Given the description of an element on the screen output the (x, y) to click on. 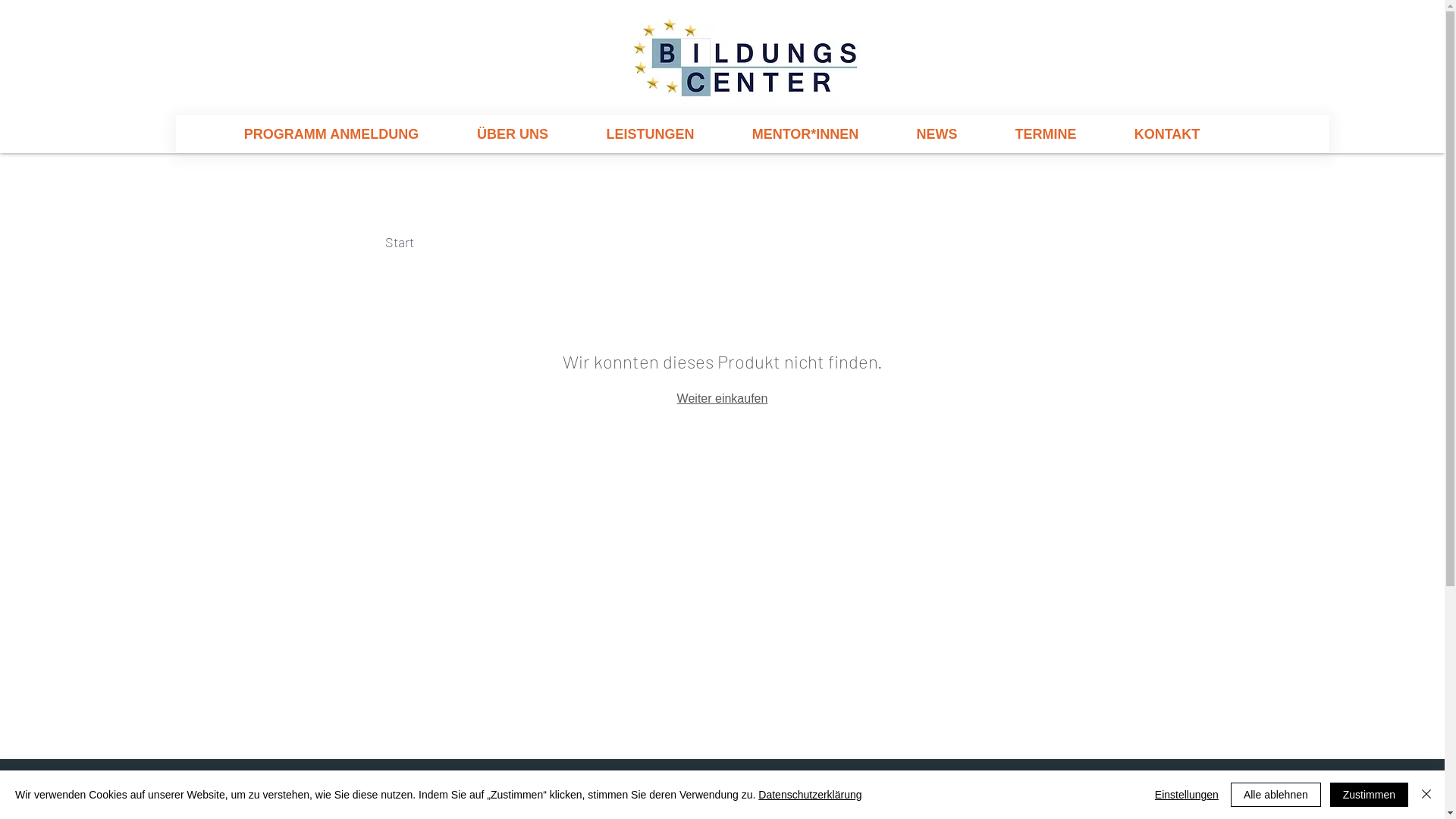
MENTOR*INNEN Element type: text (805, 134)
TERMINE Element type: text (1044, 134)
NEWS Element type: text (936, 134)
Start Element type: text (399, 241)
PROGRAMM ANMELDUNG Element type: text (331, 134)
Zustimmen Element type: text (1369, 794)
KONTAKT Element type: text (1167, 134)
Visitor Analytics Element type: hover (1442, 3)
Weiter einkaufen Element type: text (722, 397)
Alle ablehnen Element type: text (1275, 794)
